Given the description of an element on the screen output the (x, y) to click on. 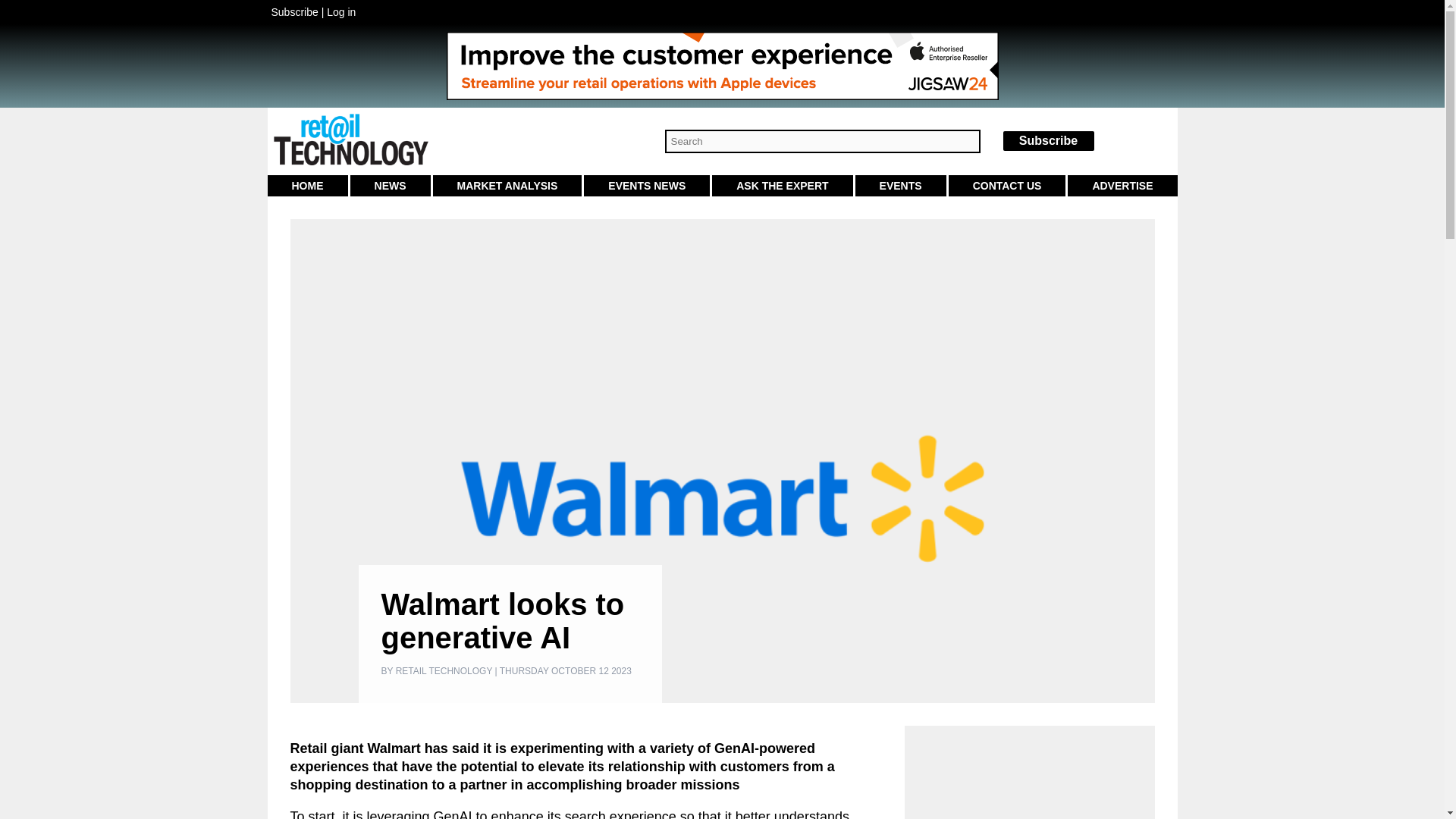
advertisement (1028, 778)
ASK THE EXPERT (781, 185)
Subscribe (1048, 140)
ADVERTISE (1121, 185)
Subscribe (294, 11)
EVENTS NEWS (646, 185)
Log in (340, 11)
EVENTS (901, 185)
CONTACT US (1007, 185)
HOME (306, 185)
